Given the description of an element on the screen output the (x, y) to click on. 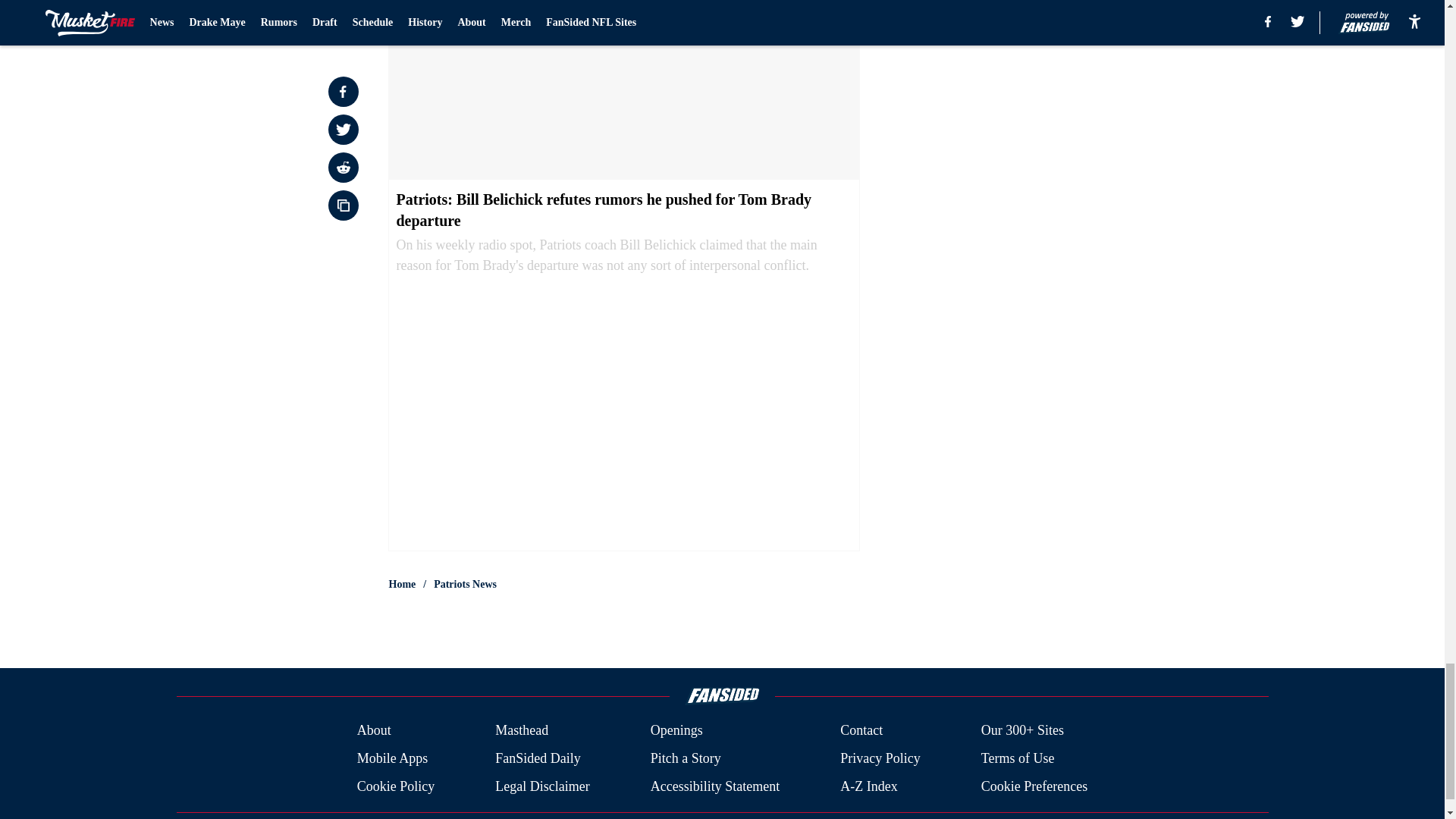
Masthead (521, 730)
About (373, 730)
Patriots News (464, 584)
Home (401, 584)
